Given the description of an element on the screen output the (x, y) to click on. 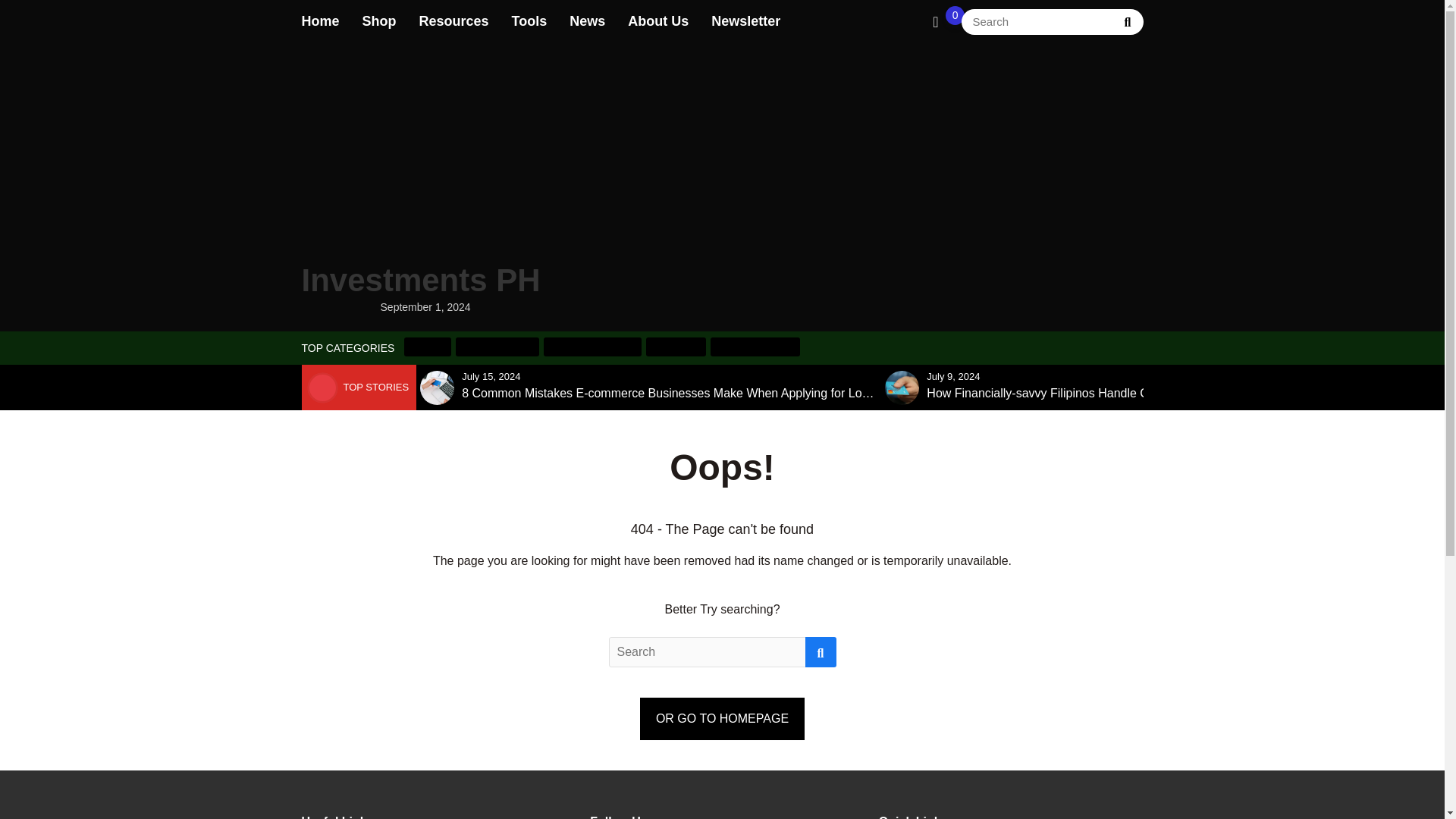
Calculator (676, 346)
Business Updates (592, 346)
Shop (379, 20)
Home (320, 20)
Resources (454, 20)
News (587, 20)
Investments PH (420, 177)
Newsletter (745, 20)
Articles (427, 346)
